Given the description of an element on the screen output the (x, y) to click on. 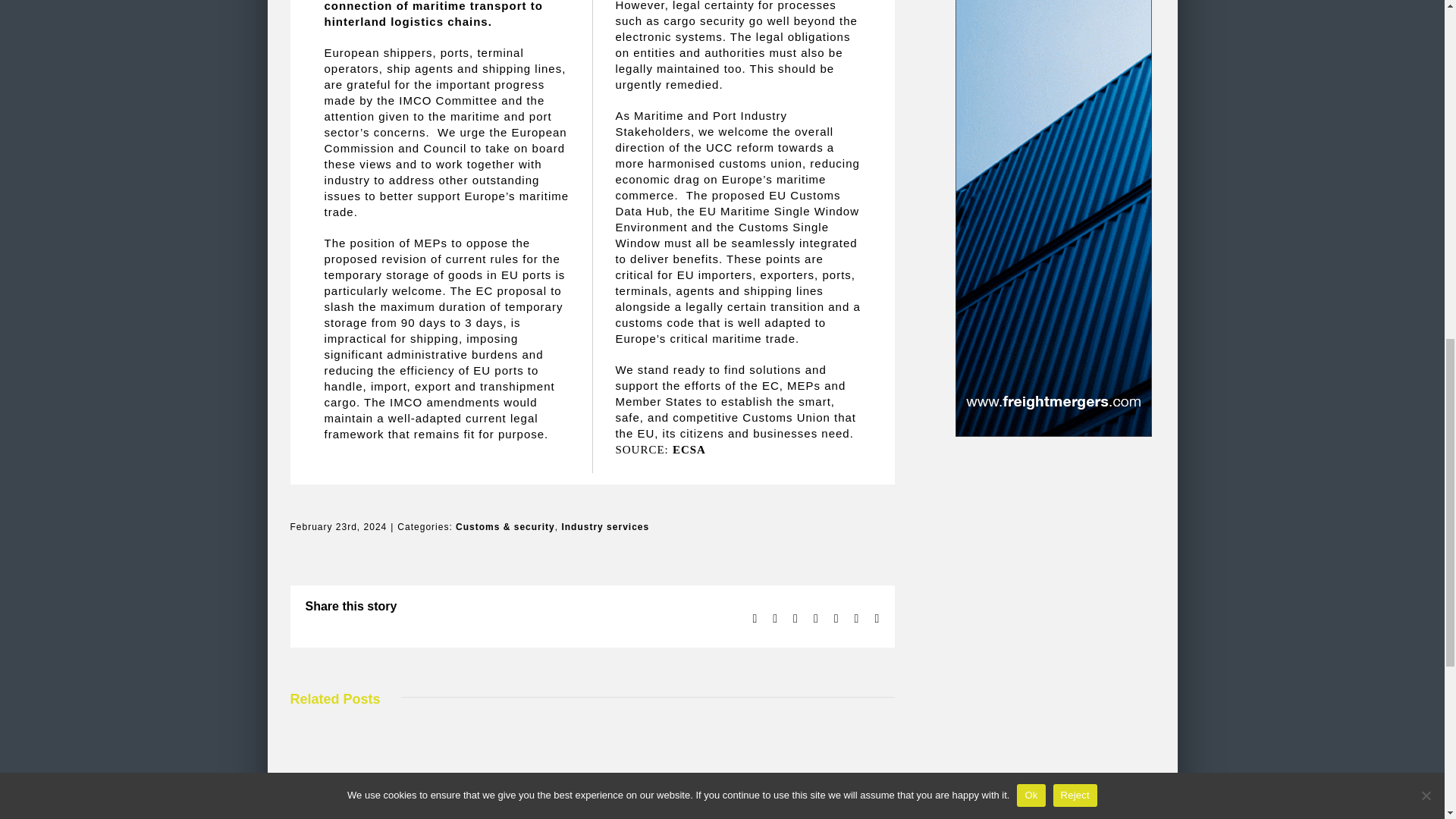
BIFA adds Solent Group to Young Forwarder Network (638, 816)
